Given the description of an element on the screen output the (x, y) to click on. 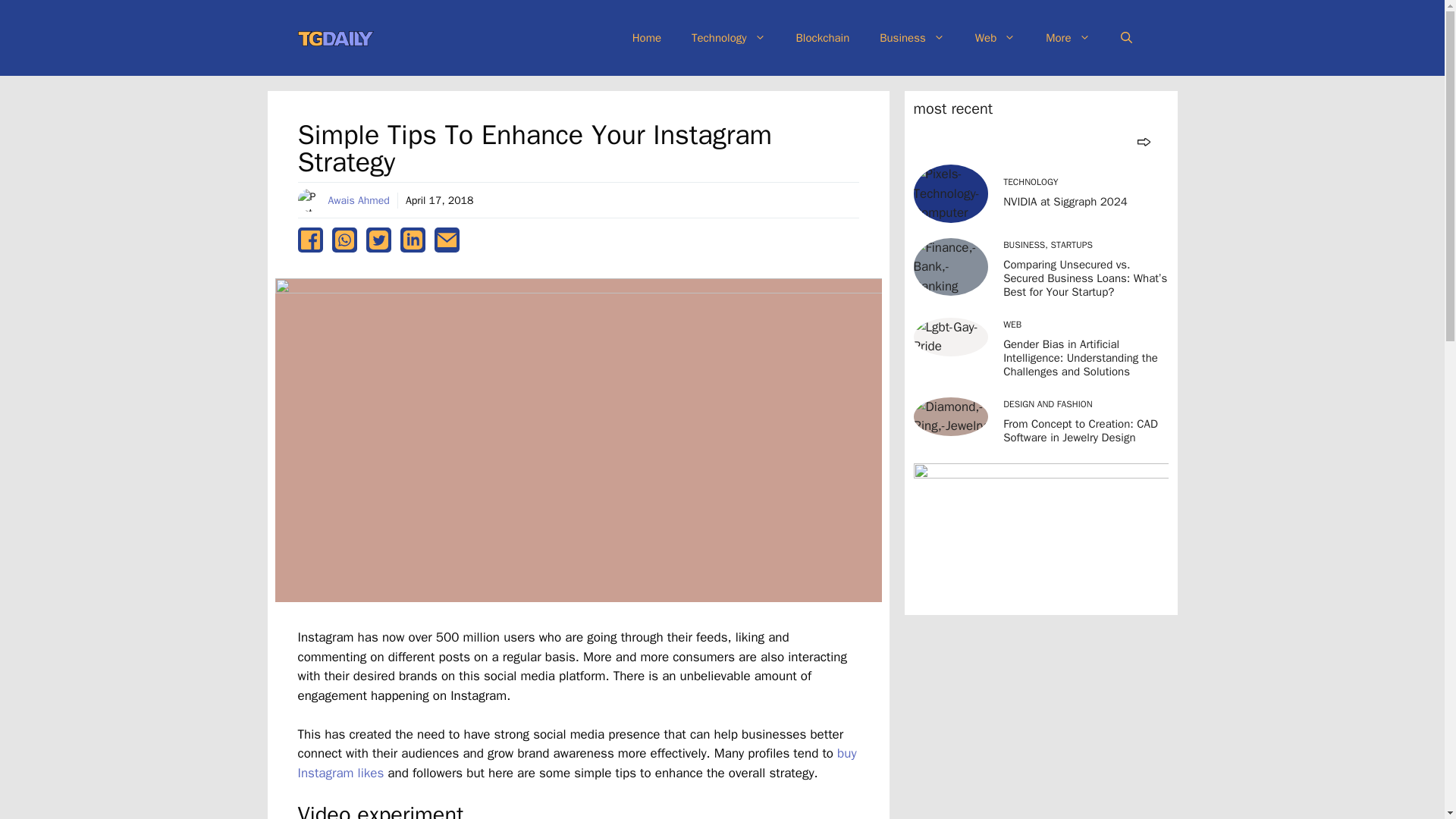
More (1067, 37)
purple-600x400-1 (1039, 534)
Blockchain (822, 37)
Business (911, 37)
Home (647, 37)
Technology (728, 37)
Web (994, 37)
